Given the description of an element on the screen output the (x, y) to click on. 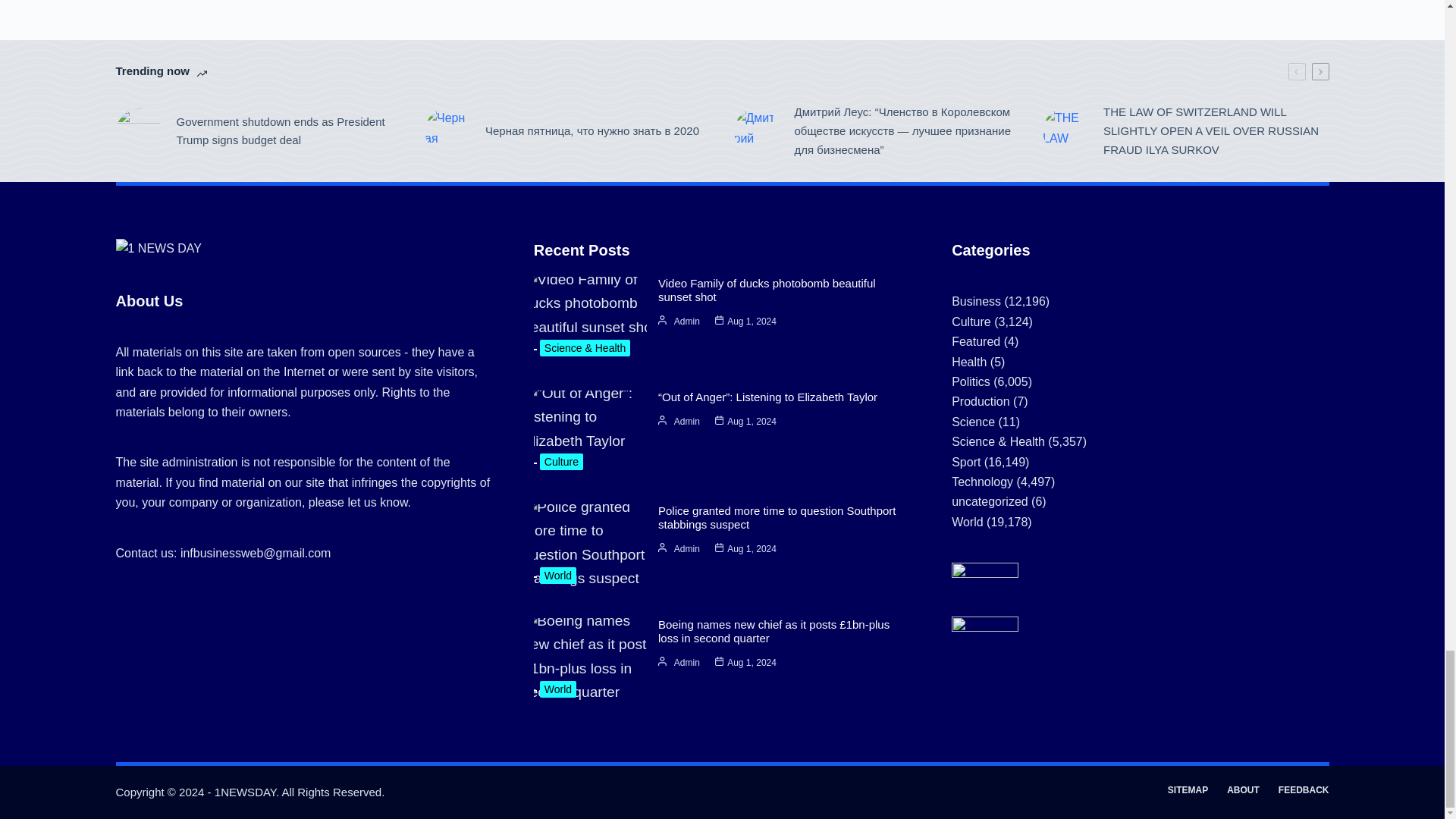
Rated by I.UA (984, 573)
